Given the description of an element on the screen output the (x, y) to click on. 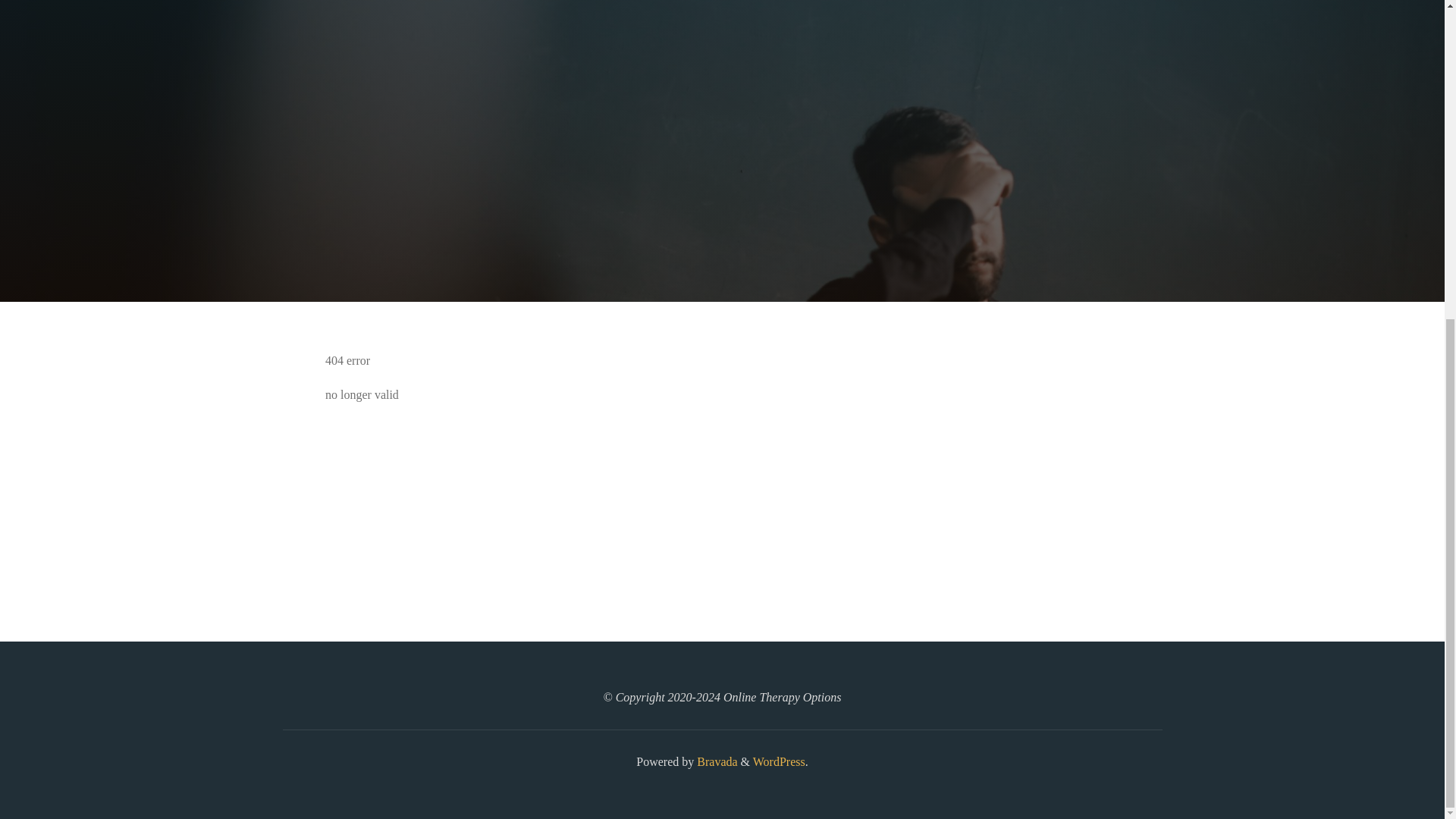
WordPress (778, 761)
Bravada WordPress Theme by Cryout Creations (715, 761)
Bravada (715, 761)
Semantic Personal Publishing Platform (778, 761)
Read more (721, 207)
